Given the description of an element on the screen output the (x, y) to click on. 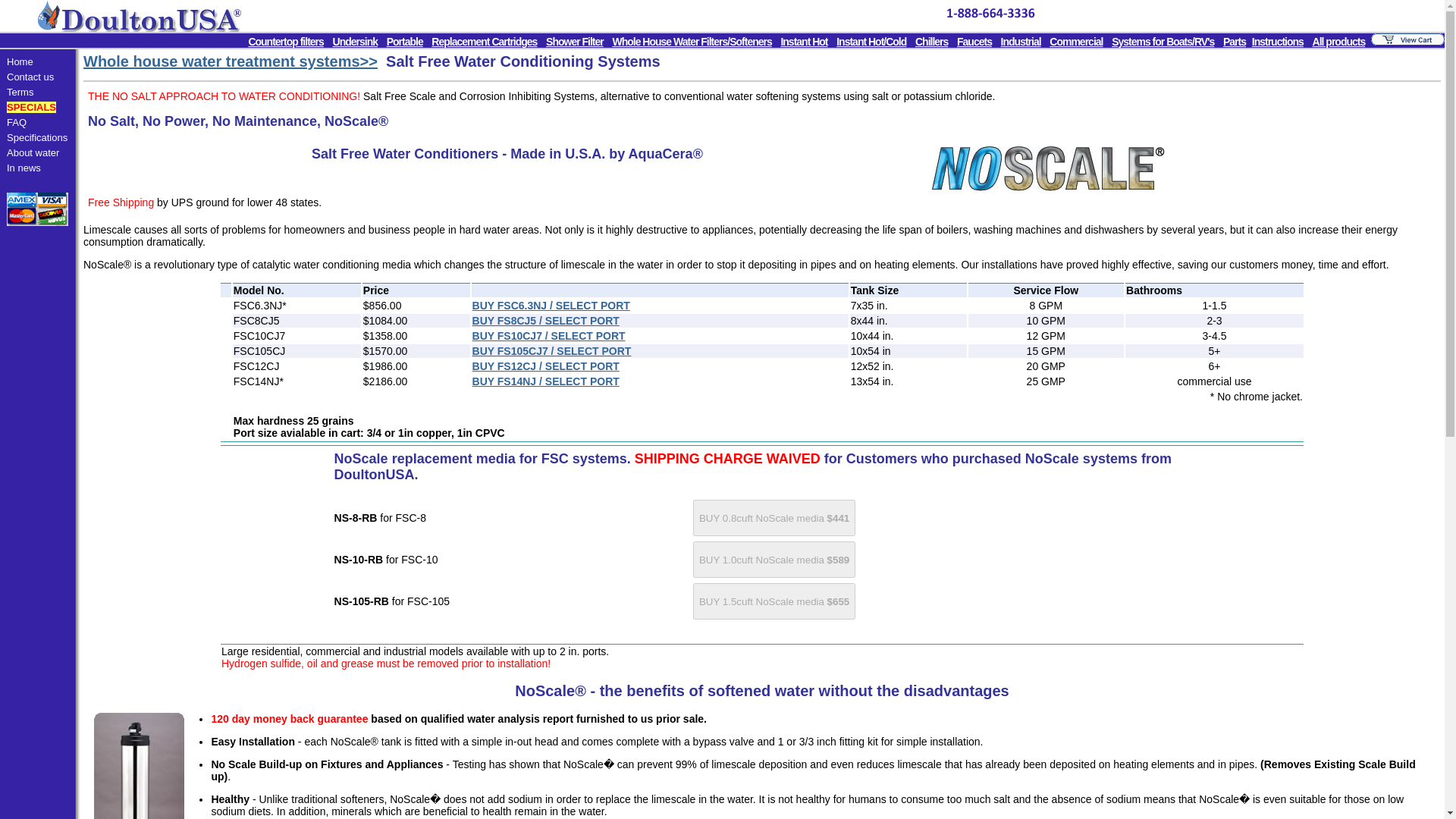
Terms (20, 91)
Chillers (931, 41)
Industrial (1021, 41)
All products (1339, 41)
FAQ (16, 122)
Specifications (36, 137)
Replacement Cartridges (483, 41)
Home (20, 61)
About water (33, 152)
Commercial (1075, 41)
